Given the description of an element on the screen output the (x, y) to click on. 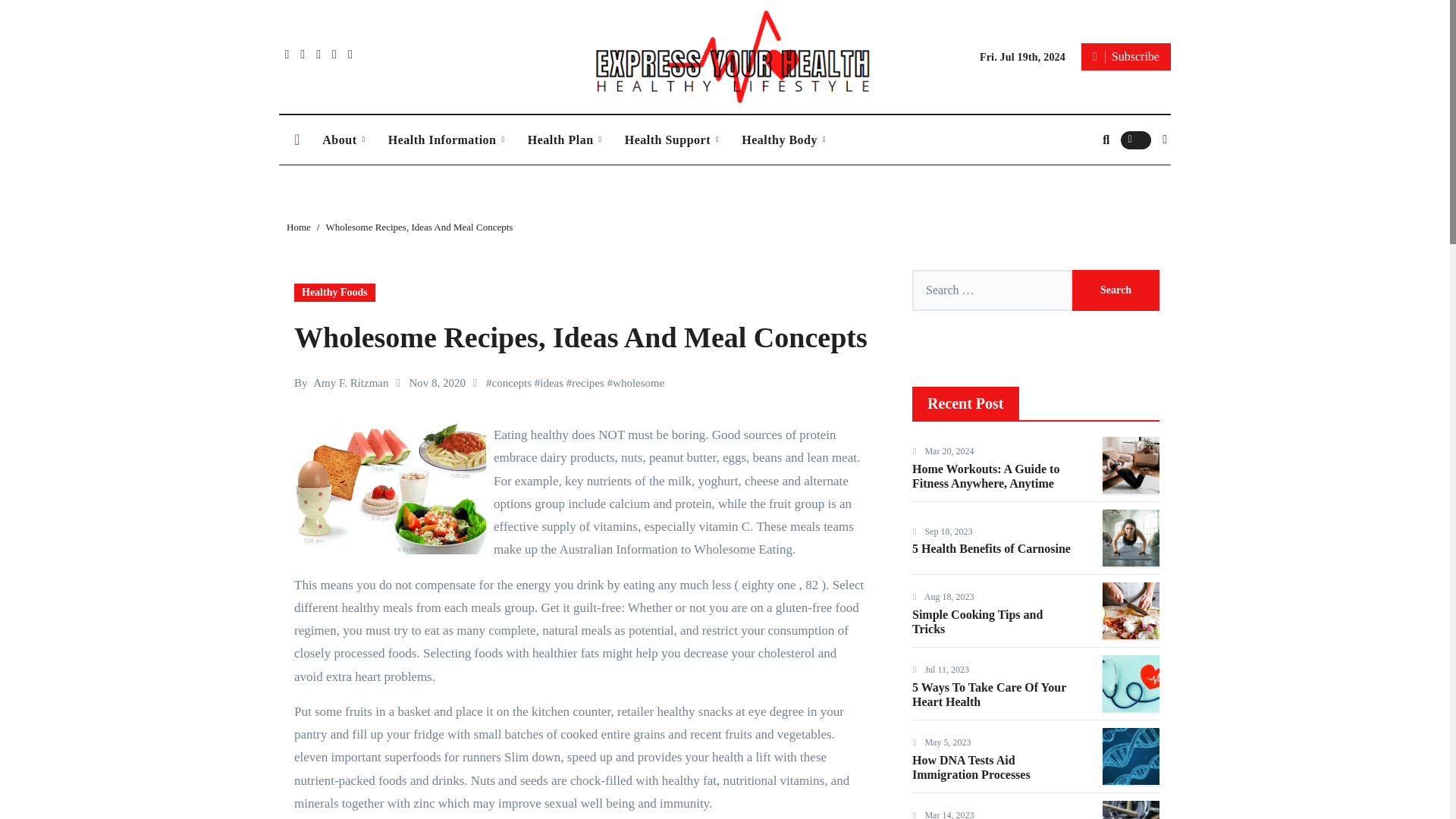
Subscribe (1125, 56)
Health Plan (564, 139)
Home (296, 140)
About (343, 139)
About (343, 139)
Search (1114, 290)
Health Plan (564, 139)
Search (1114, 290)
Health Support (671, 139)
Health Information (446, 139)
Health Information (446, 139)
Healthy Body (783, 139)
